Given the description of an element on the screen output the (x, y) to click on. 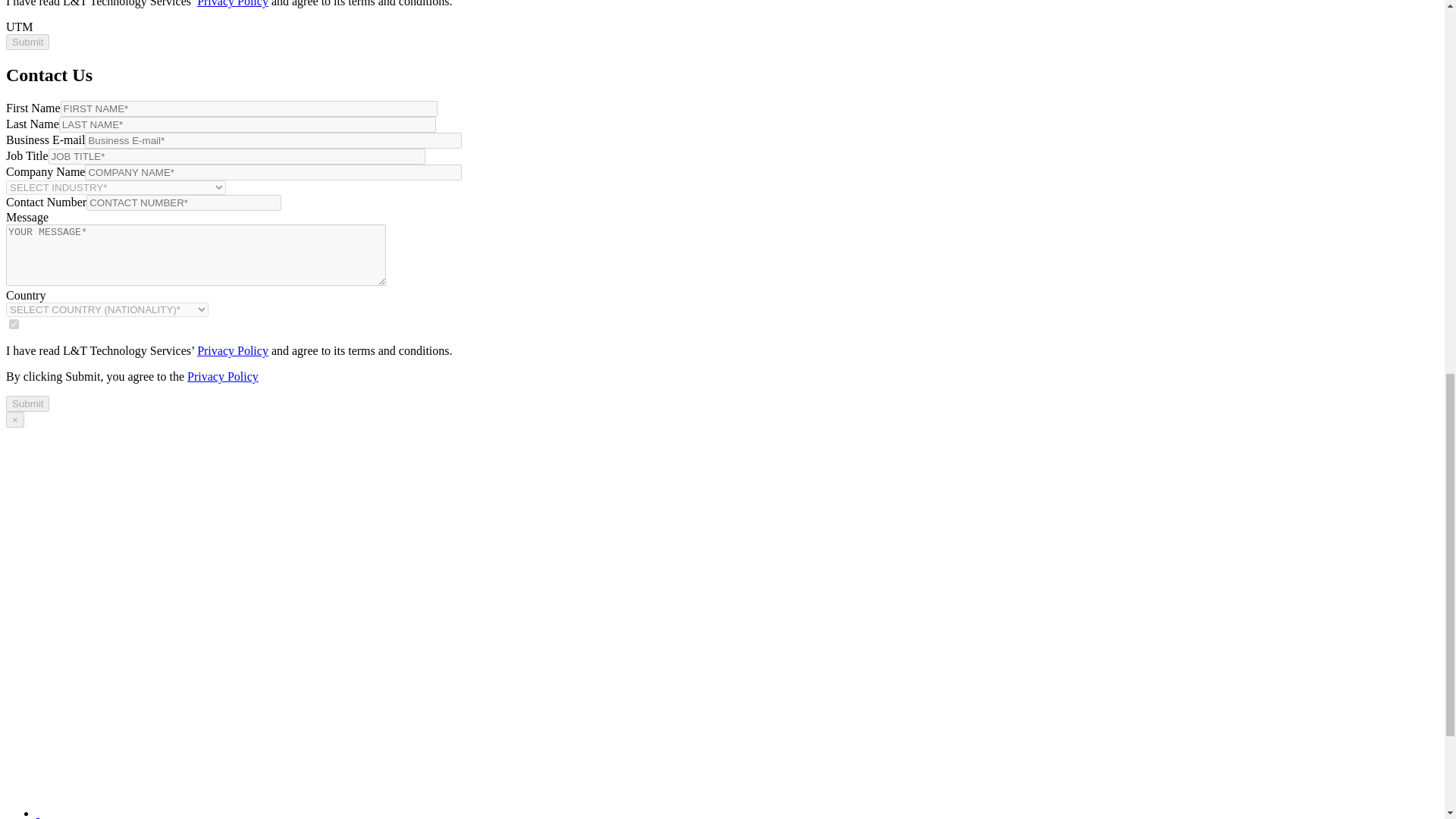
Privacy Policy (231, 350)
Submit (27, 41)
Submit (27, 403)
1 (13, 324)
Privacy Policy (231, 3)
Privacy Policy (223, 376)
